Given the description of an element on the screen output the (x, y) to click on. 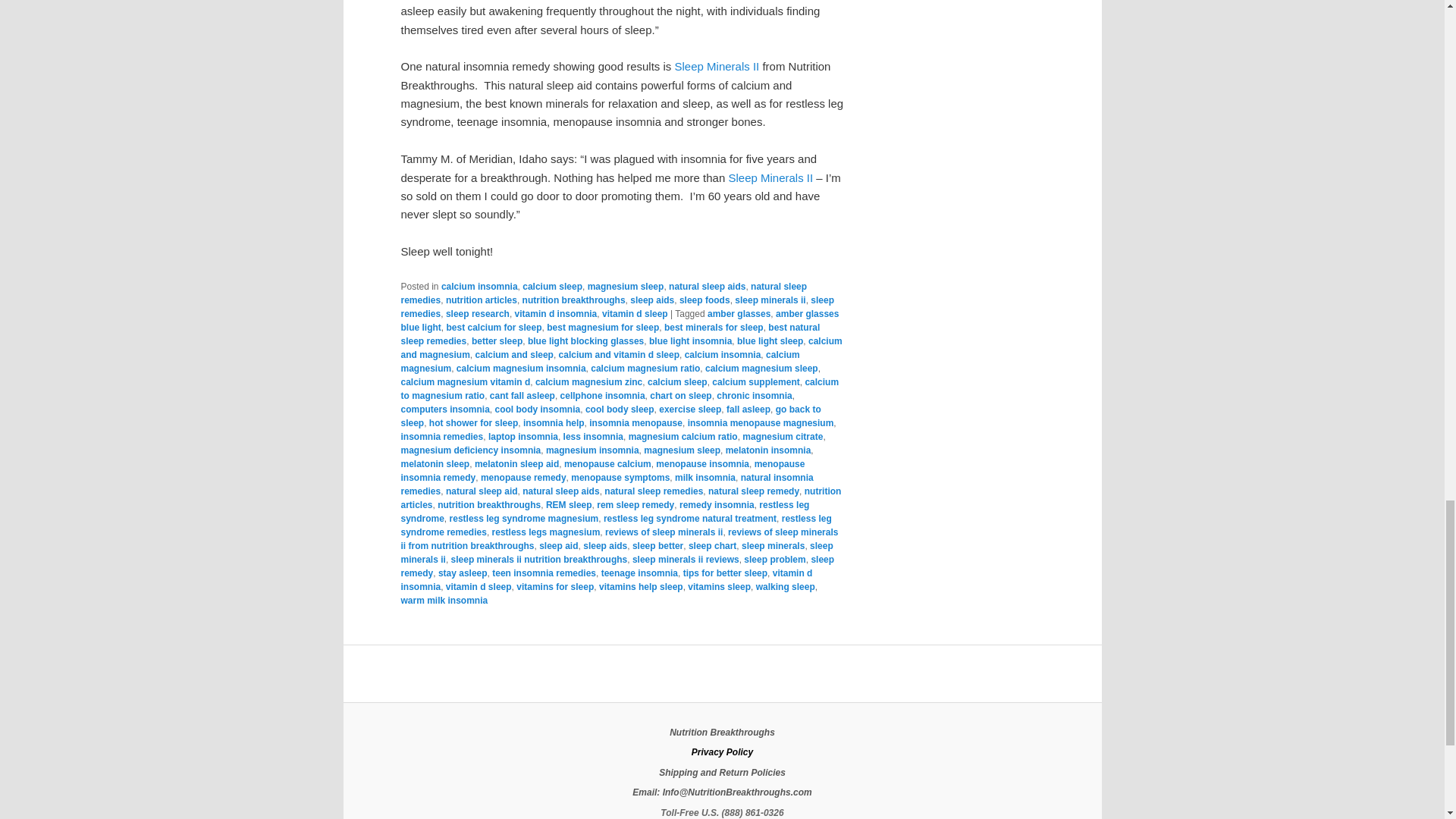
sleep minerals ii (717, 65)
sleep minerals ii (770, 177)
